Given the description of an element on the screen output the (x, y) to click on. 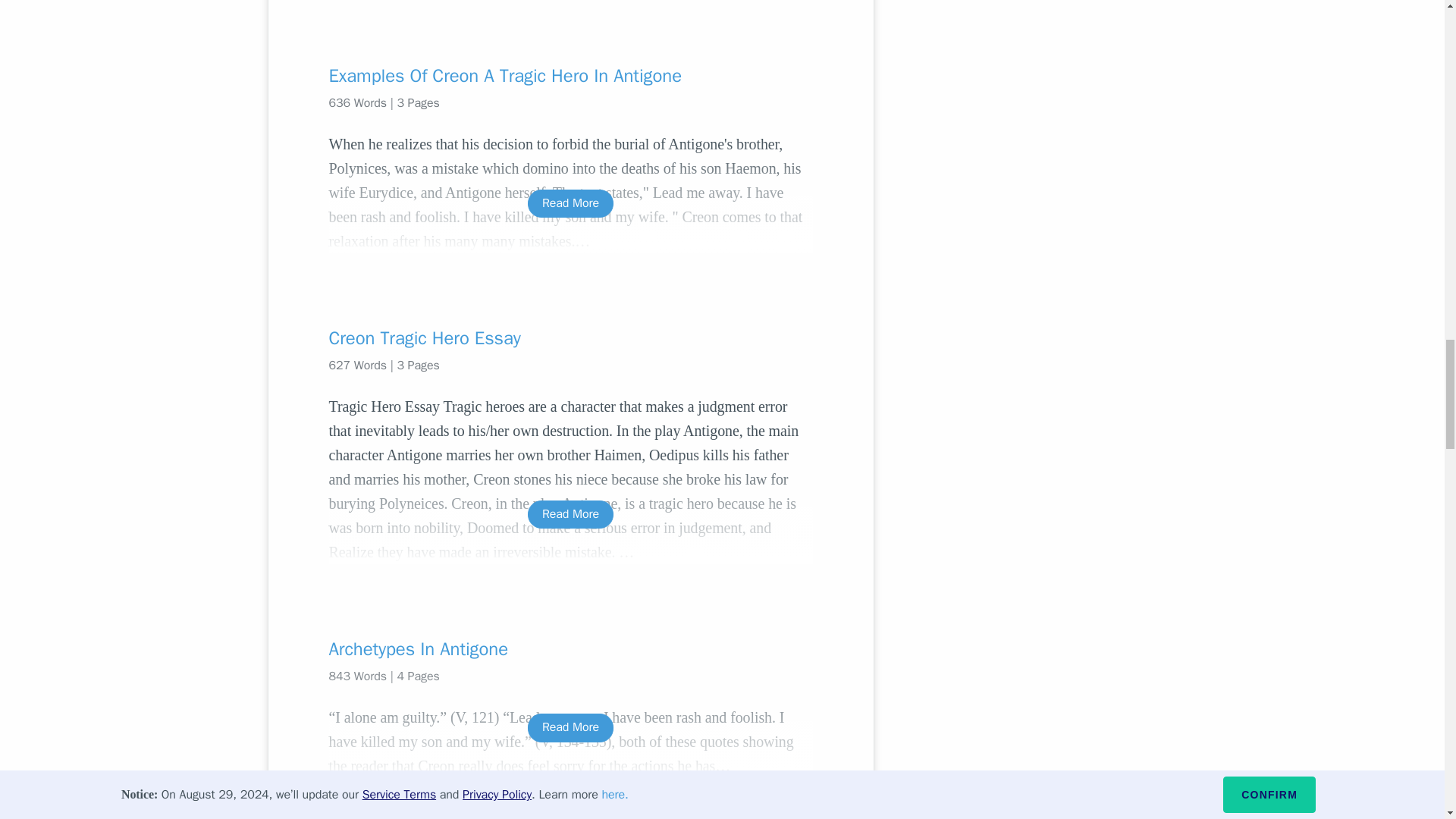
Creon Tragic Hero Essay (570, 337)
Read More (569, 203)
Read More (569, 514)
Archetypes In Antigone (570, 648)
Read More (569, 727)
Examples Of Creon A Tragic Hero In Antigone (570, 75)
